Given the description of an element on the screen output the (x, y) to click on. 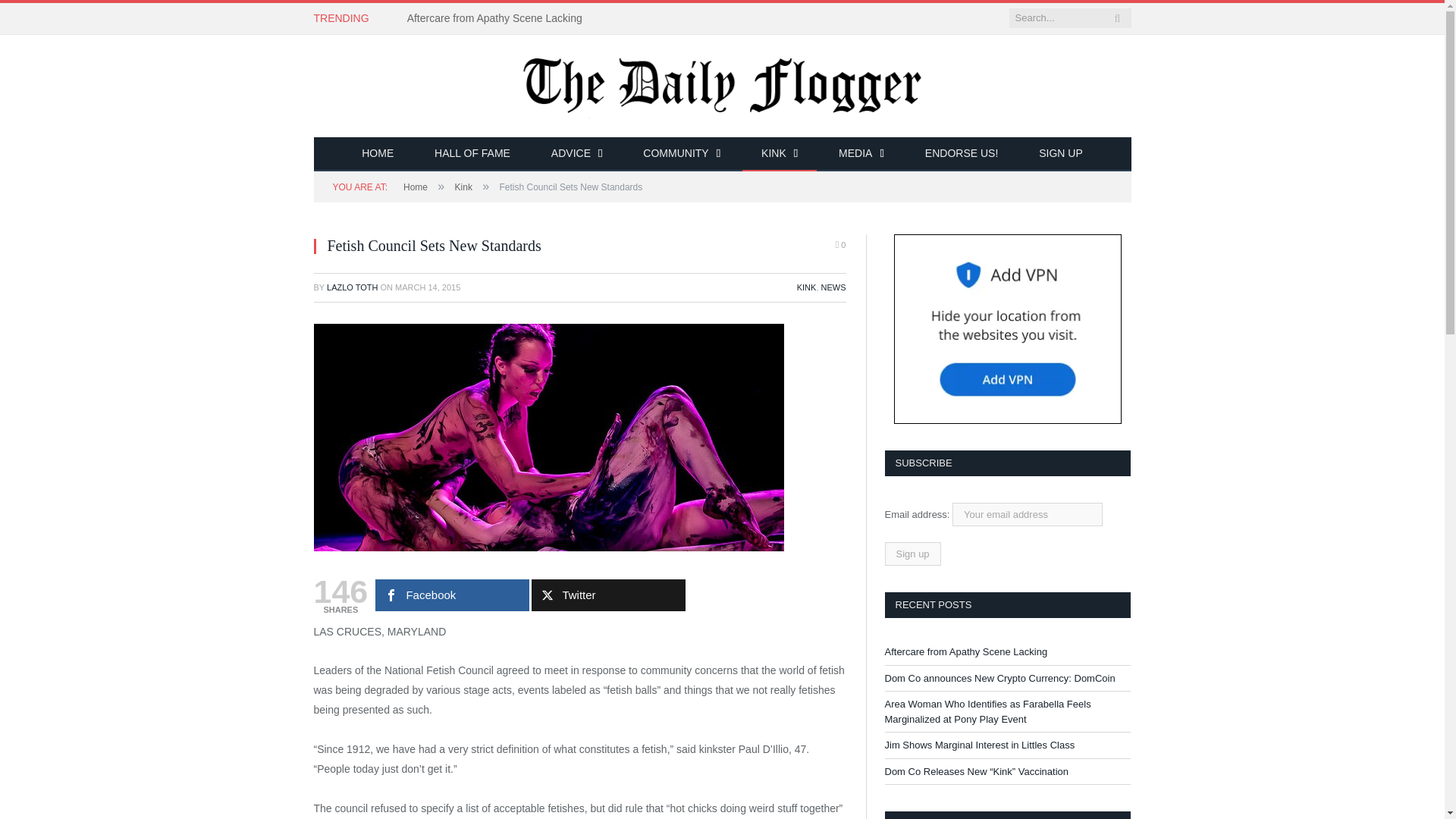
Posts by Lazlo Toth (351, 286)
Fetish Council Sets New Standards (549, 436)
MEDIA (860, 154)
ENDORSE US! (960, 154)
Kink (462, 186)
2015-03-14 (427, 286)
LAZLO TOTH (351, 286)
Aftercare from Apathy Scene Lacking (498, 18)
ADVICE (576, 154)
Aftercare from Apathy Scene Lacking (498, 18)
